Given the description of an element on the screen output the (x, y) to click on. 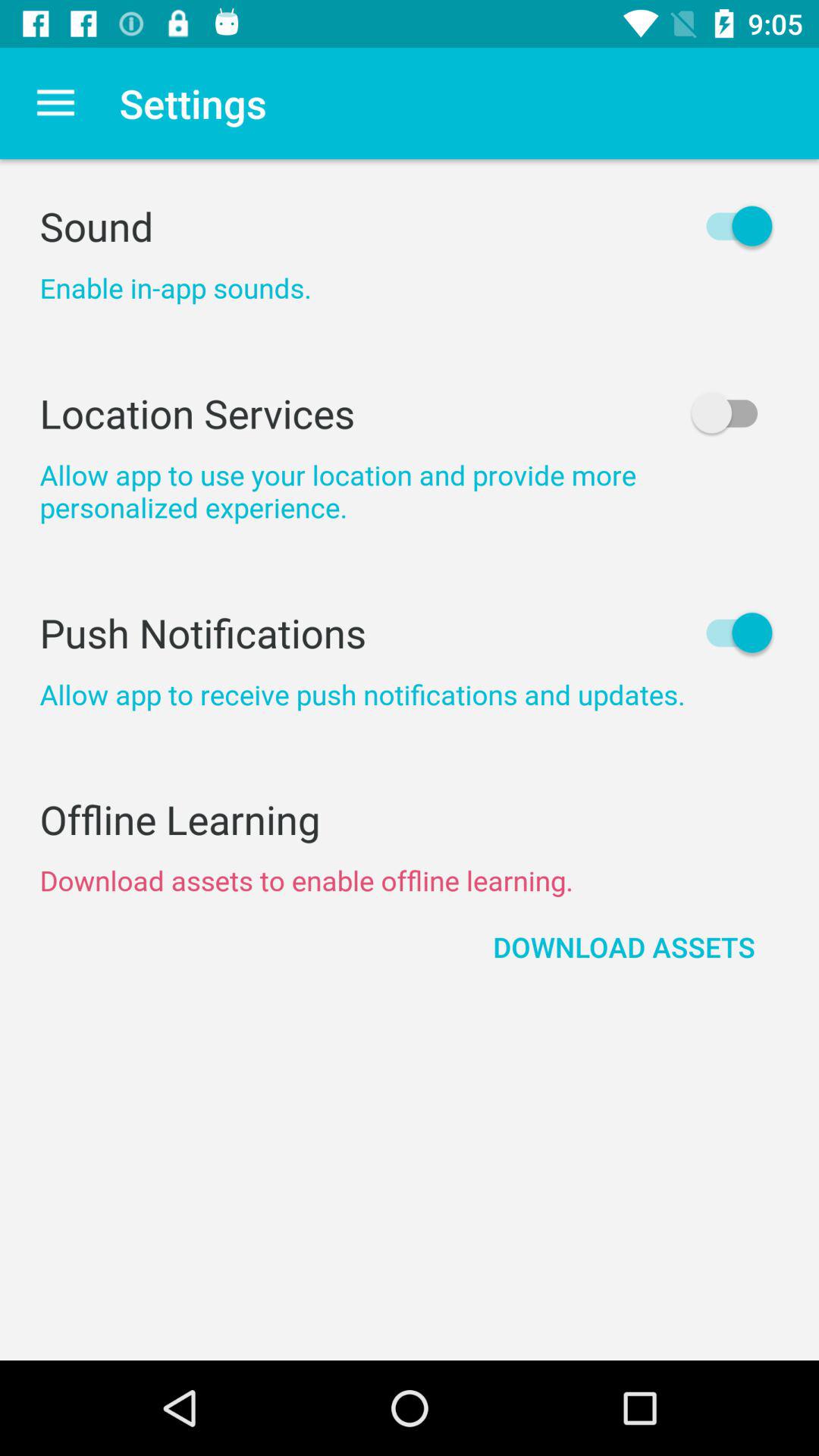
launch the icon below the enable in app icon (409, 413)
